Given the description of an element on the screen output the (x, y) to click on. 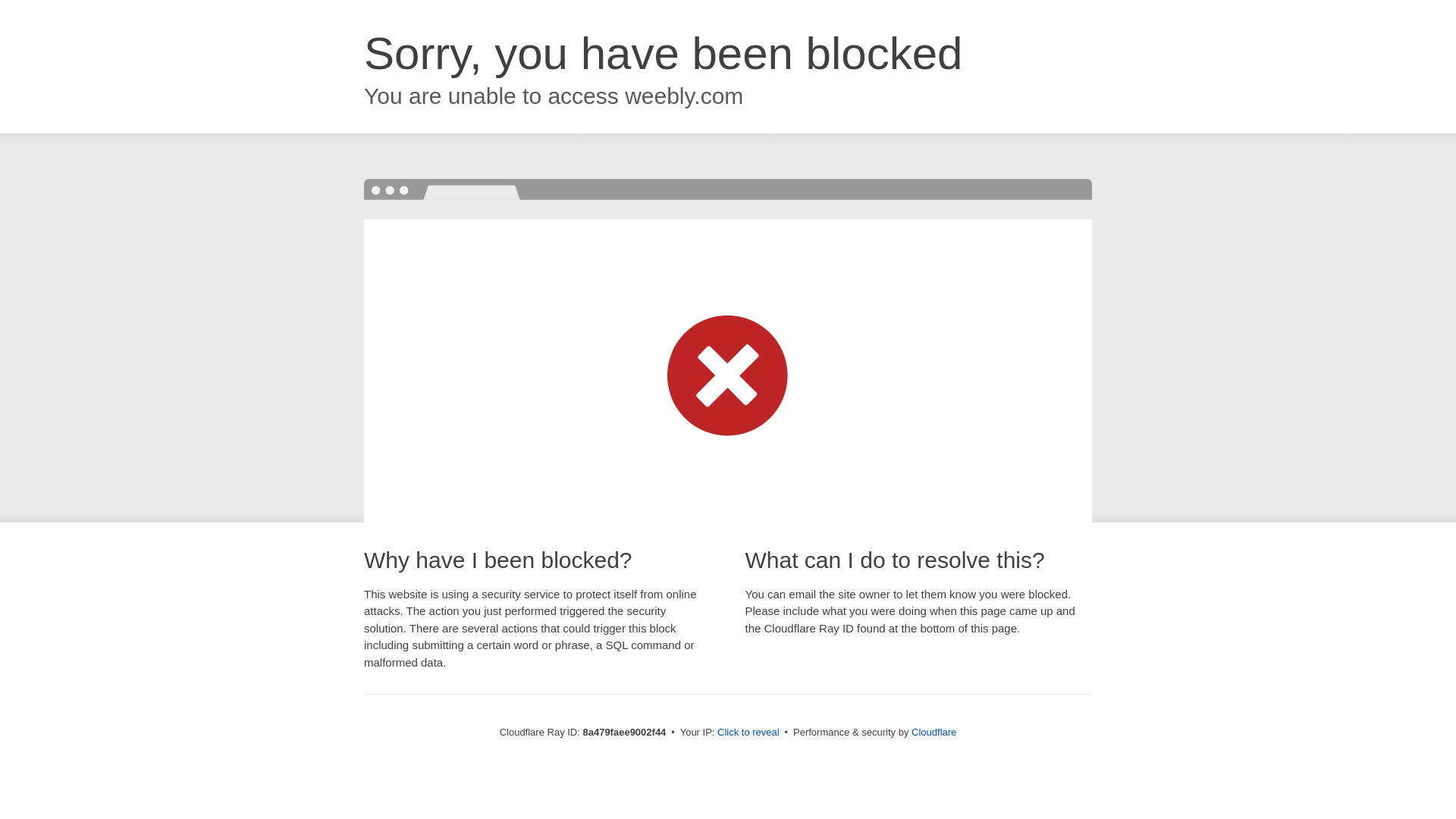
Cloudflare (933, 731)
Click to reveal (747, 732)
